Given the description of an element on the screen output the (x, y) to click on. 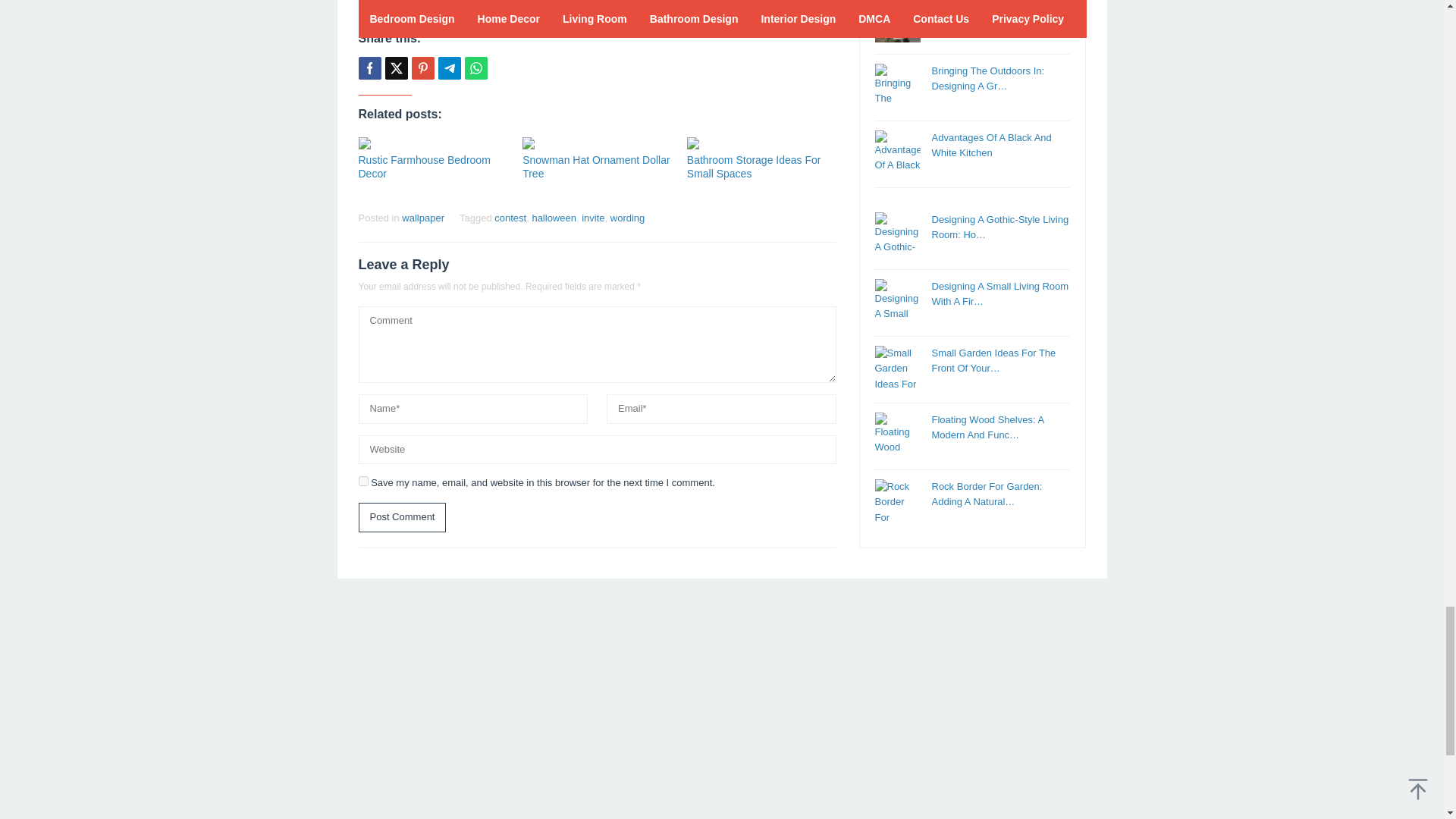
Permalink to: Snowman Hat Ornament Dollar Tree (596, 143)
Tweet this (396, 67)
Whatsapp (475, 67)
yes (363, 480)
Pin this (421, 67)
Permalink to: Rustic Farmhouse Bedroom Decor (423, 166)
Permalink to: Snowman Hat Ornament Dollar Tree (595, 166)
Permalink to: Rustic Farmhouse Bedroom Decor (432, 143)
Permalink to: Bathroom Storage Ideas For Small Spaces (761, 143)
Telegram Share (449, 67)
